Given the description of an element on the screen output the (x, y) to click on. 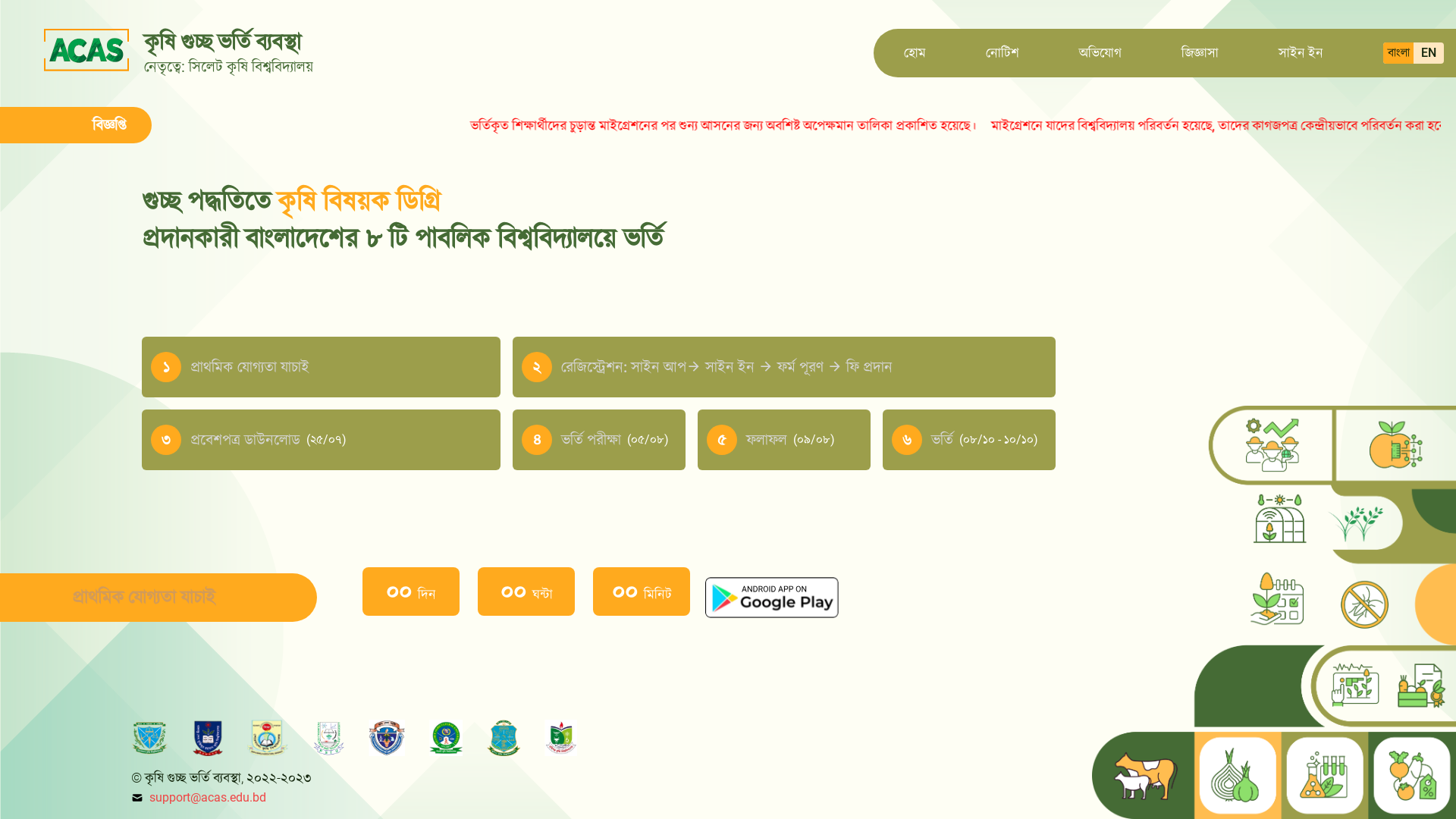
support@acas.edu.bd Element type: text (207, 797)
EN Element type: text (1428, 52)
